Given the description of an element on the screen output the (x, y) to click on. 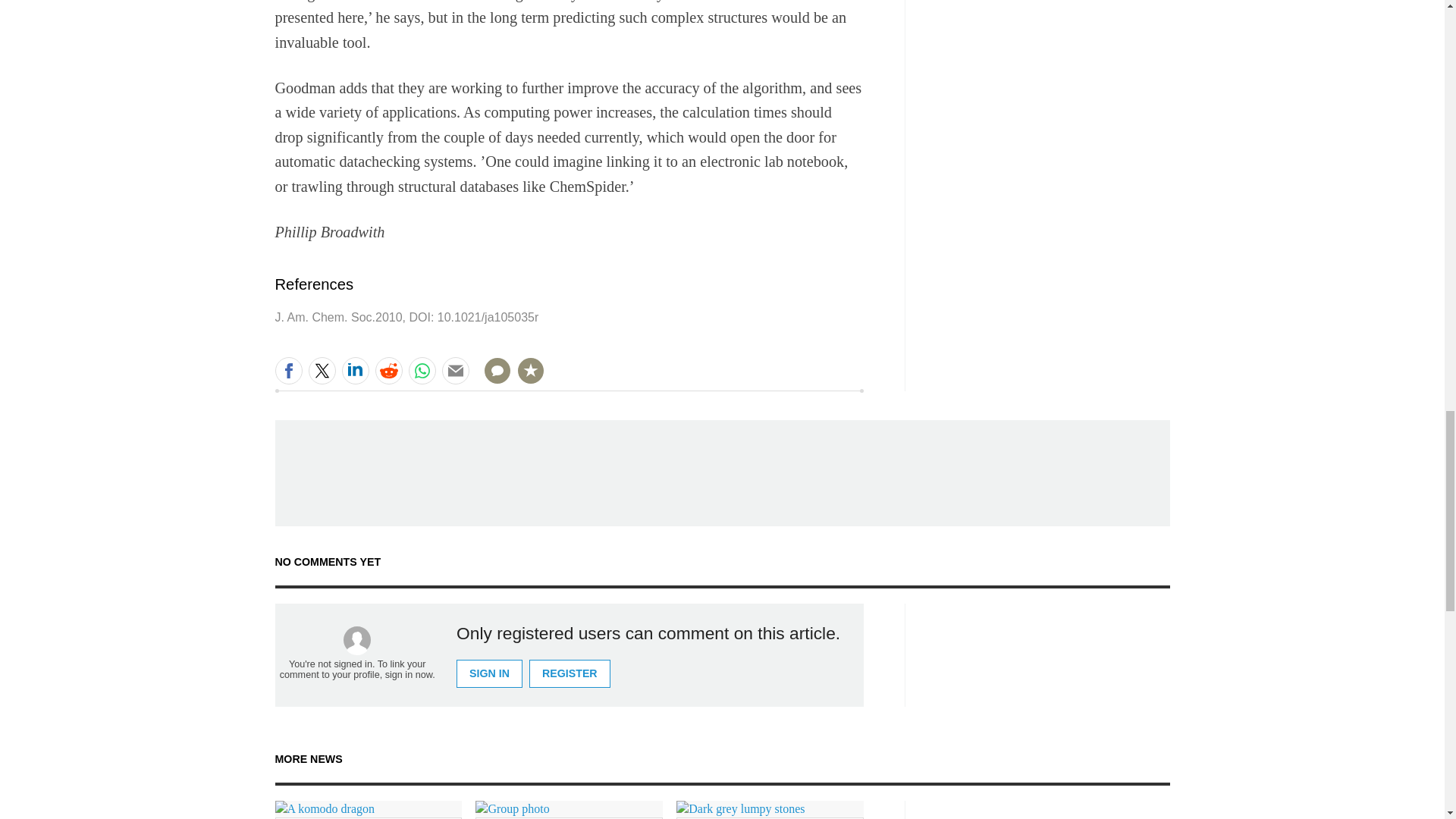
Share this on WhatsApp (421, 370)
Share this by email (454, 370)
Share this on Facebook (288, 370)
Share this on LinkedIn (354, 370)
NO COMMENTS (492, 379)
Share this on Reddit (387, 370)
